Given the description of an element on the screen output the (x, y) to click on. 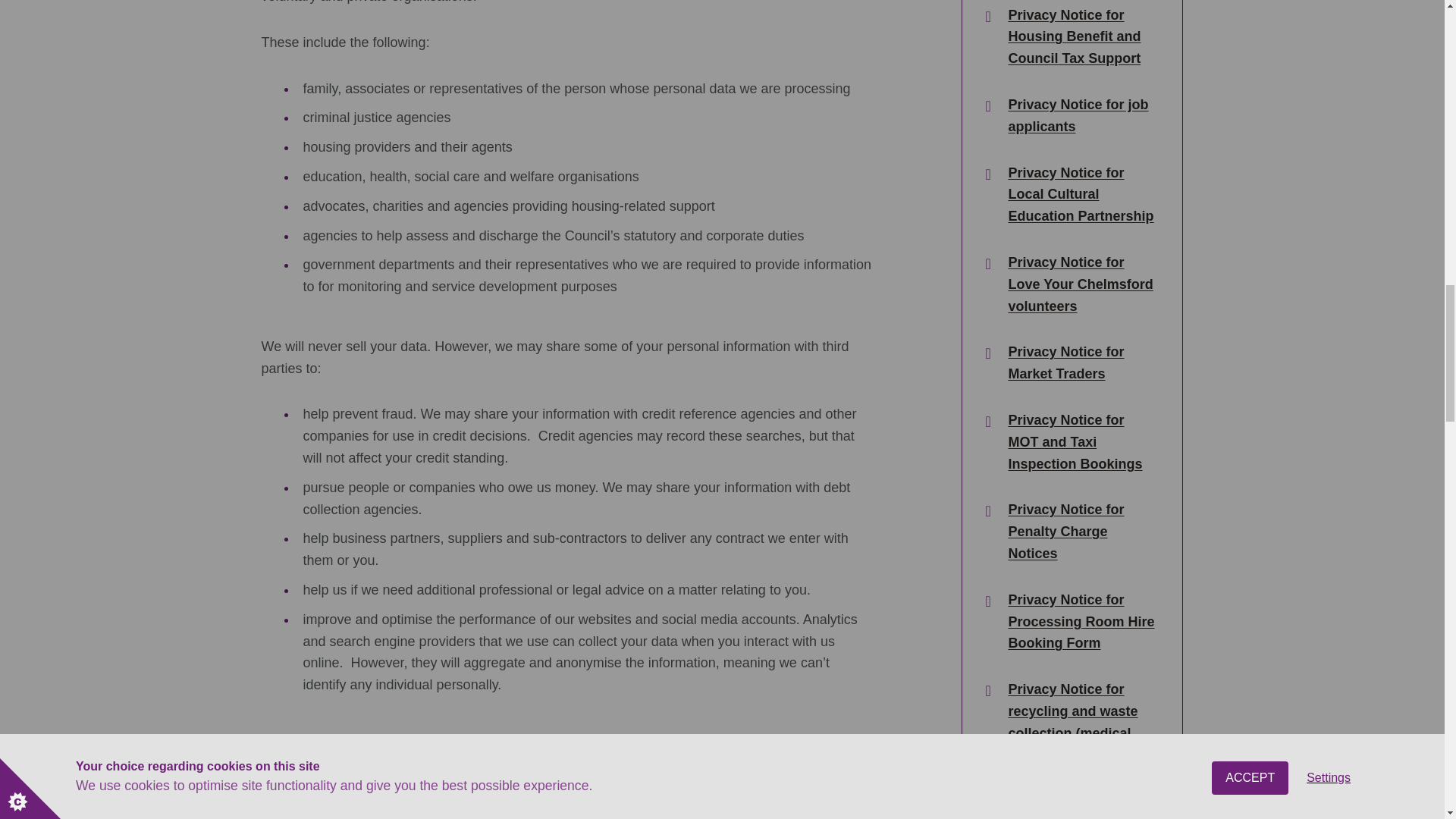
Privacy Notice for Self-Build and Custom Housing Register (1081, 804)
Privacy Notice for MOT and Taxi Inspection Bookings (1081, 442)
Privacy Notice for Love Your Chelmsford volunteers (1081, 283)
Privacy Notice for Local Cultural Education Partnership (1081, 194)
Privacy Notice for Market Traders (1081, 362)
Privacy Notice for job applicants (1081, 116)
Privacy Notice for Processing Room Hire Booking Form (1081, 621)
Privacy Notice for Penalty Charge Notices (1081, 531)
Privacy Notice for Housing Benefit and Council Tax Support (1081, 36)
